Given the description of an element on the screen output the (x, y) to click on. 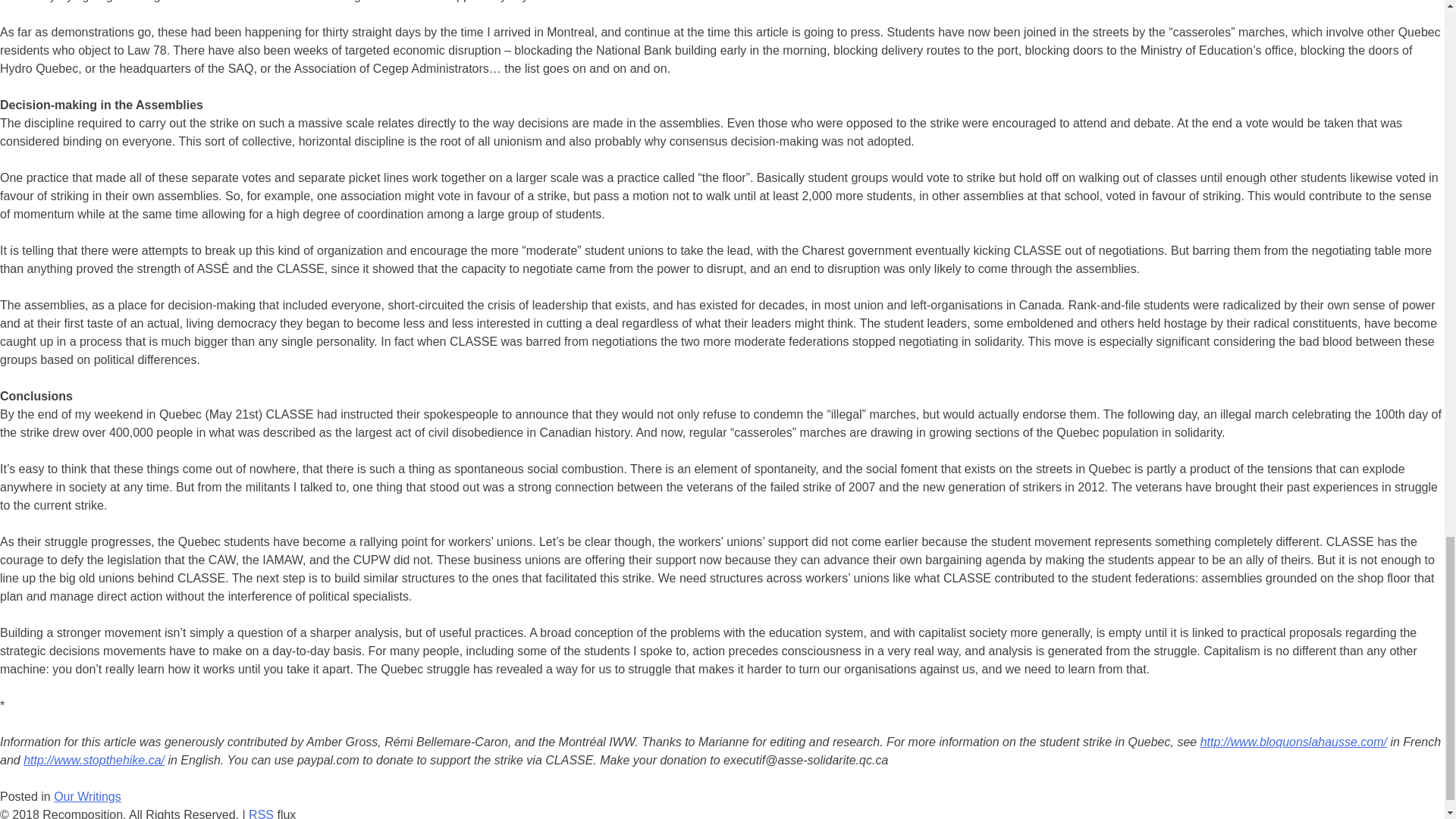
RSS (260, 813)
Our Writings (86, 796)
